Given the description of an element on the screen output the (x, y) to click on. 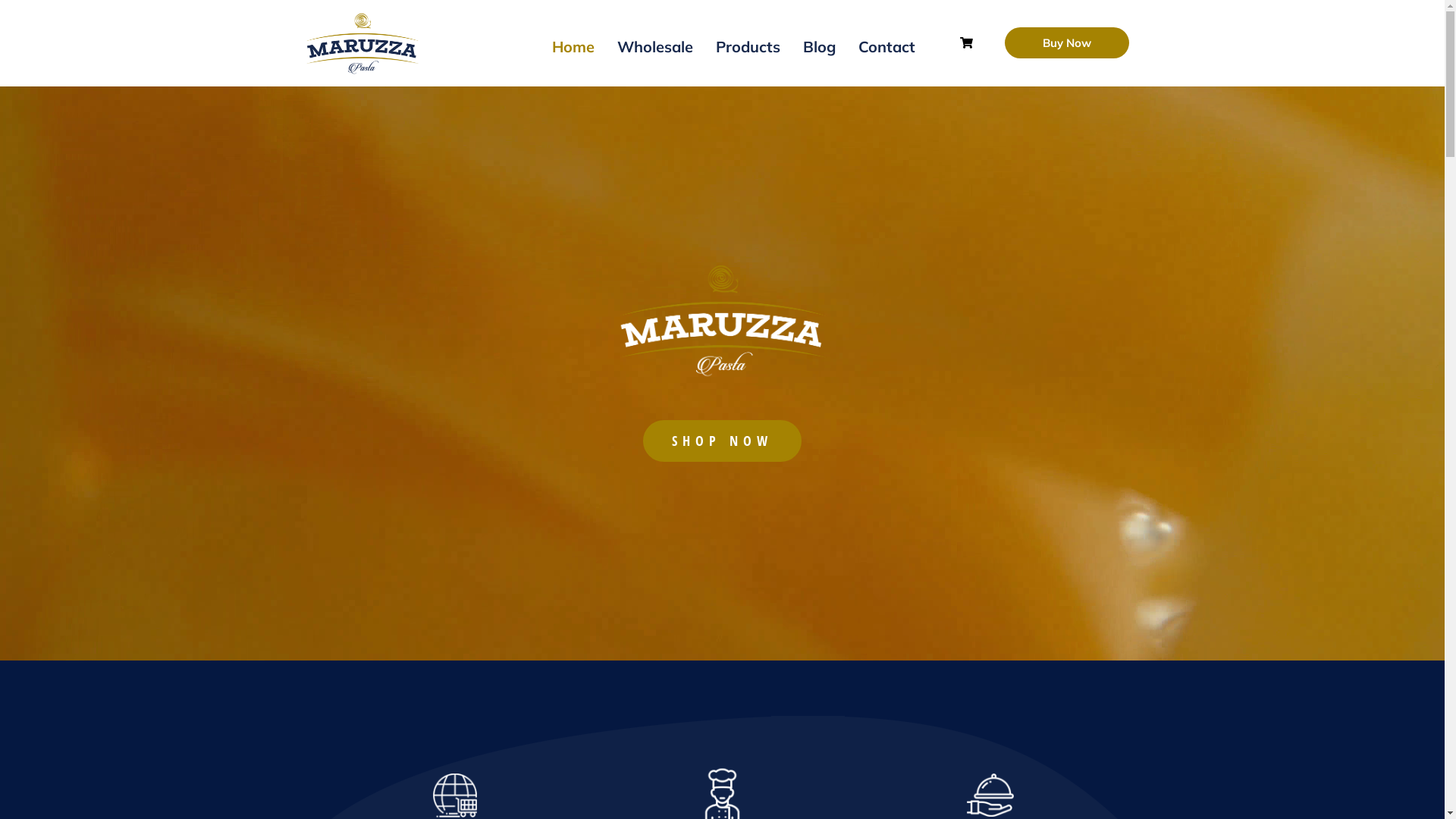
Home Element type: text (572, 46)
Buy Now Element type: text (1066, 42)
Products Element type: text (747, 46)
Wholesale Element type: text (654, 46)
Blog Element type: text (819, 46)
Contact Element type: text (886, 46)
